Given the description of an element on the screen output the (x, y) to click on. 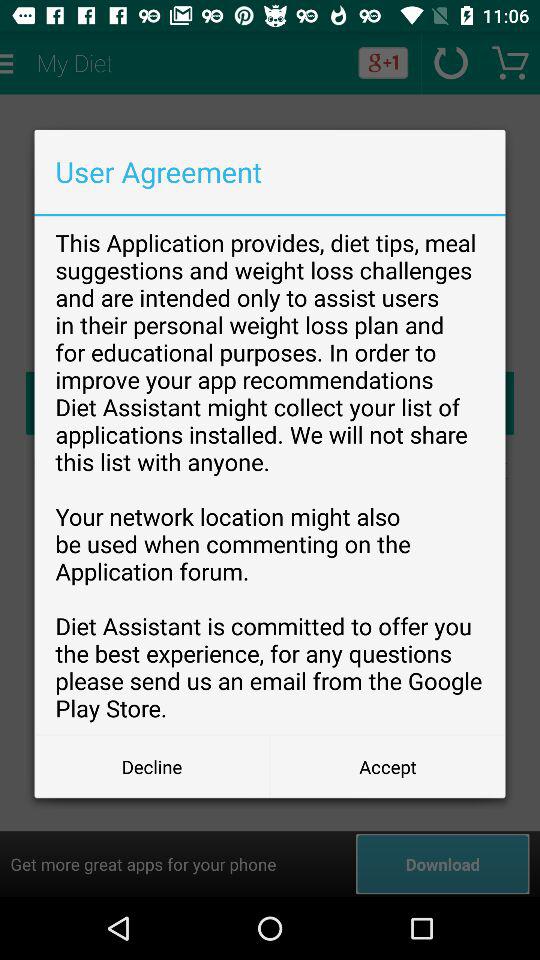
click accept icon (387, 766)
